Given the description of an element on the screen output the (x, y) to click on. 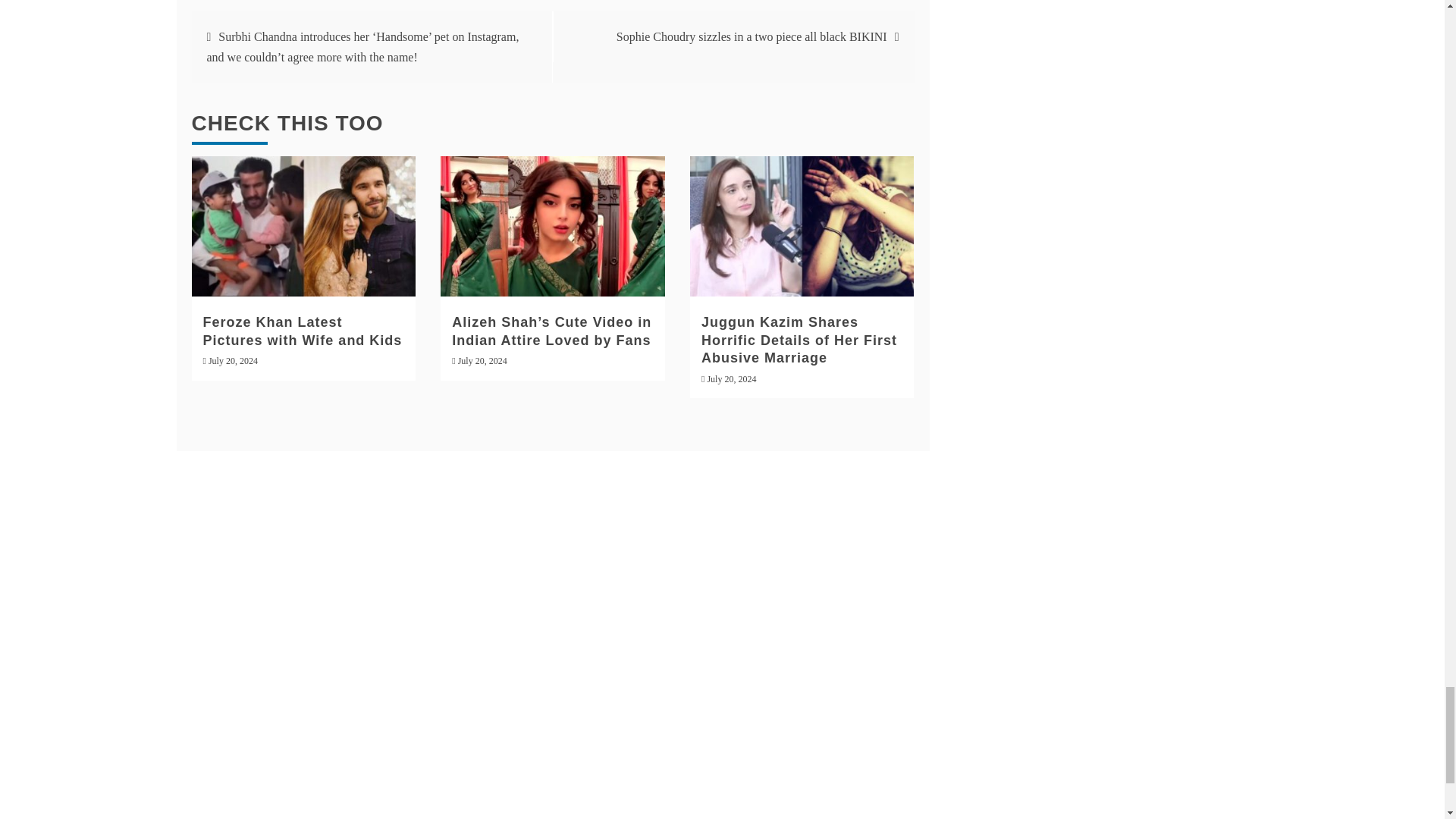
July 20, 2024 (232, 360)
July 20, 2024 (730, 378)
July 20, 2024 (482, 360)
Sophie Choudry sizzles in a two piece all black BIKINI (750, 36)
Feroze Khan Latest Pictures with Wife and Kids (303, 330)
